Given the description of an element on the screen output the (x, y) to click on. 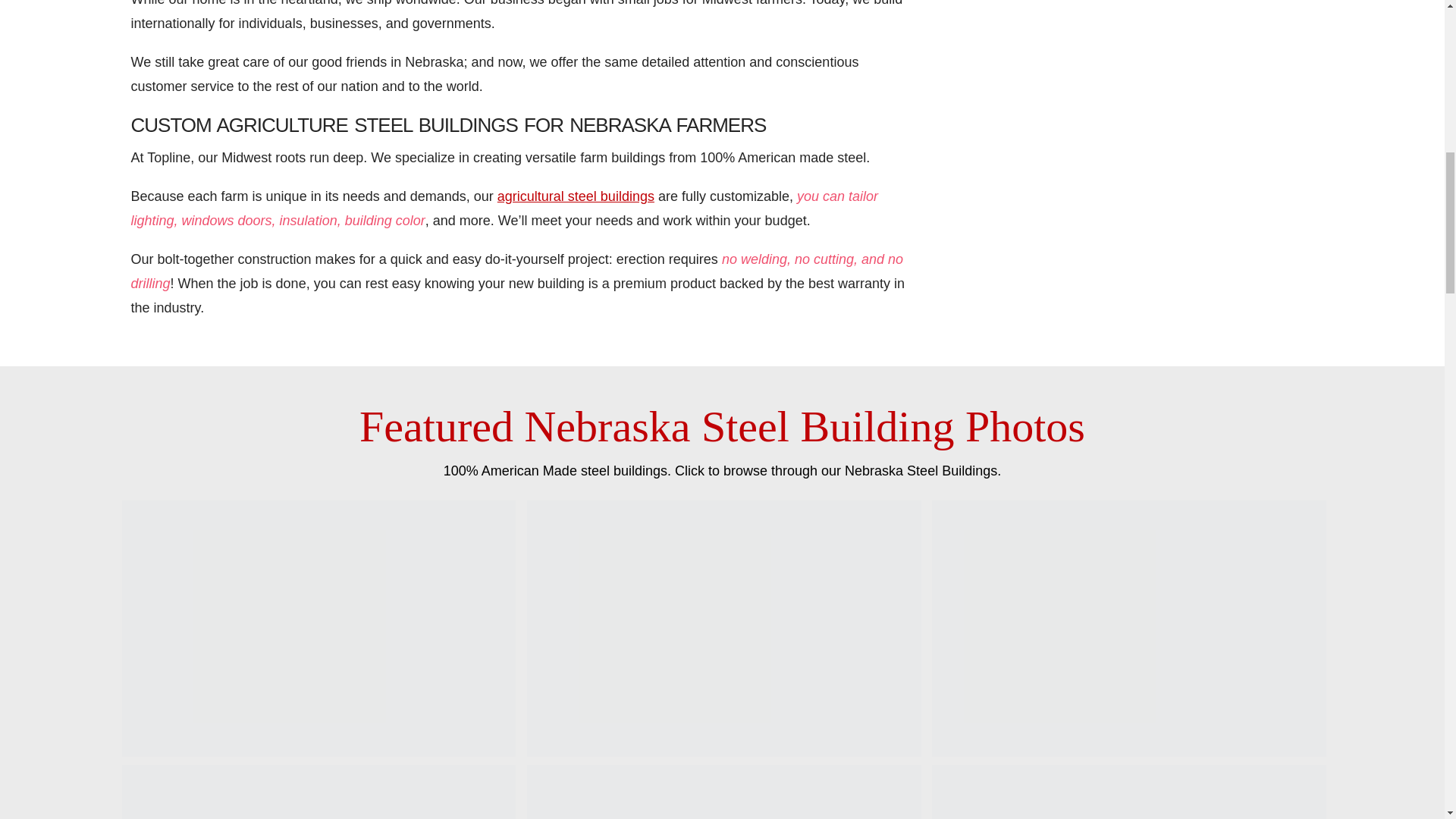
agricultural steel buildings (575, 196)
